Given the description of an element on the screen output the (x, y) to click on. 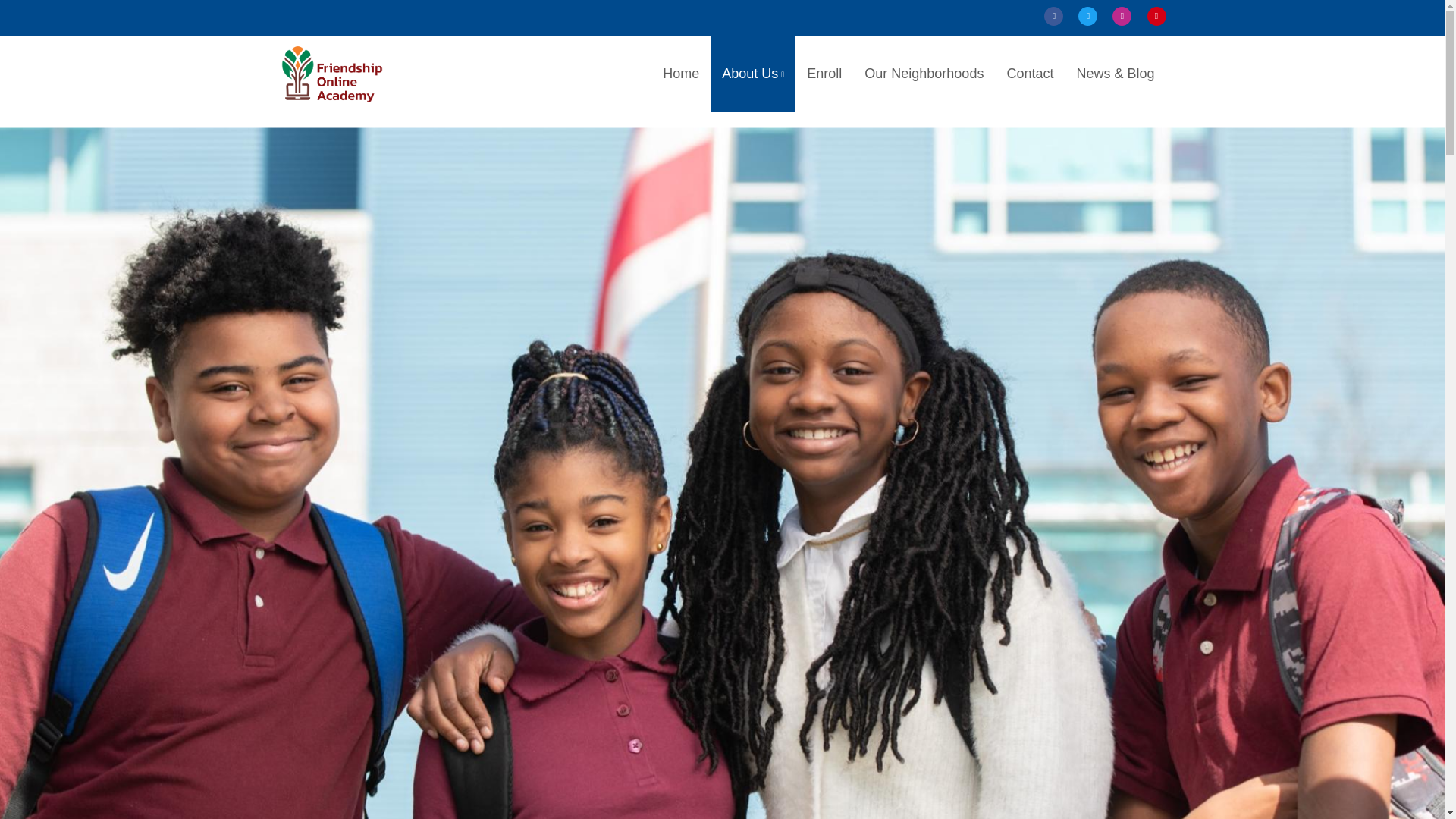
Our Neighborhoods (923, 73)
About Us (752, 74)
Contact (1029, 73)
